Given the description of an element on the screen output the (x, y) to click on. 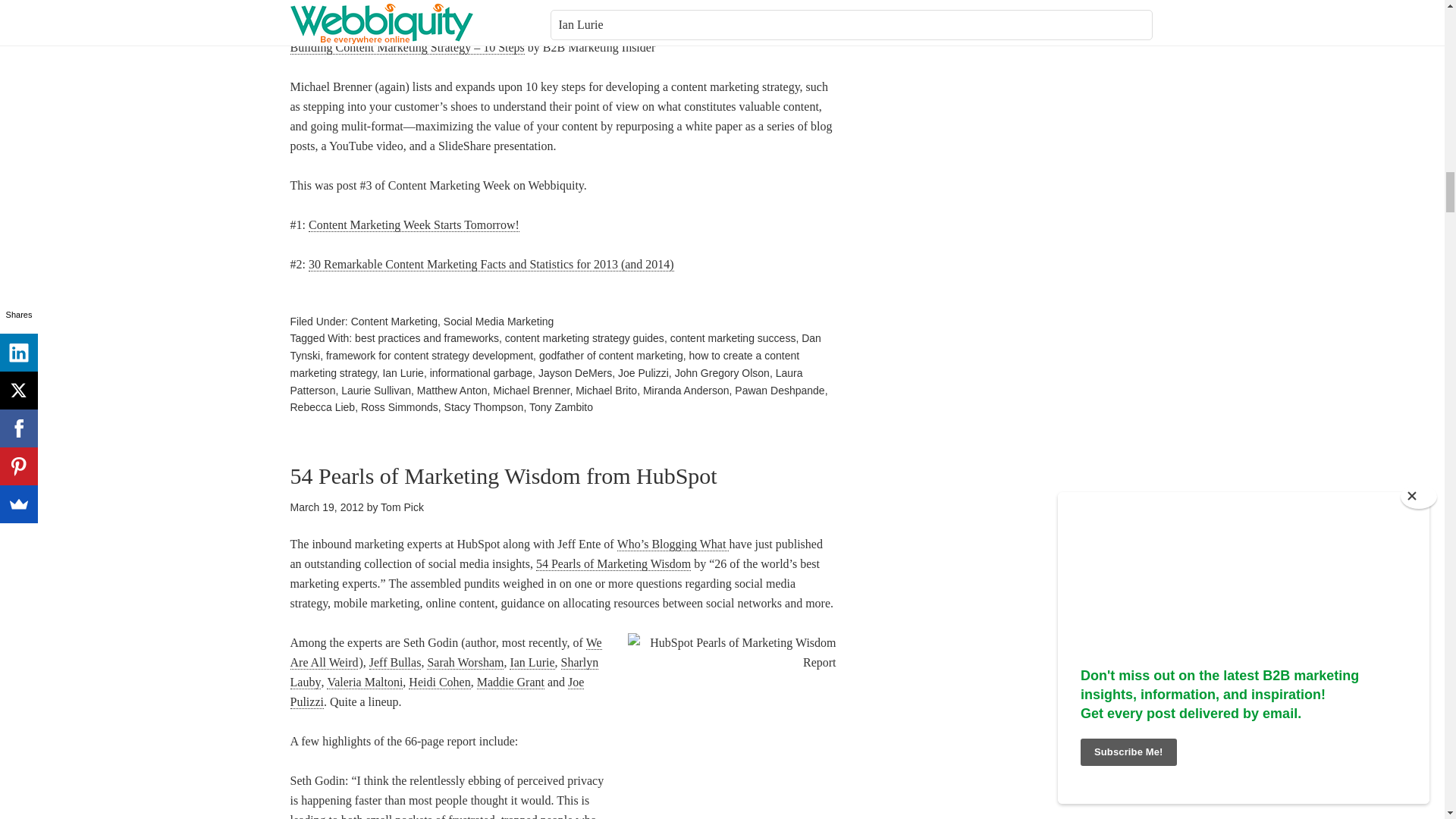
hubspot-pearls-mktg-wisdom (731, 726)
